Given the description of an element on the screen output the (x, y) to click on. 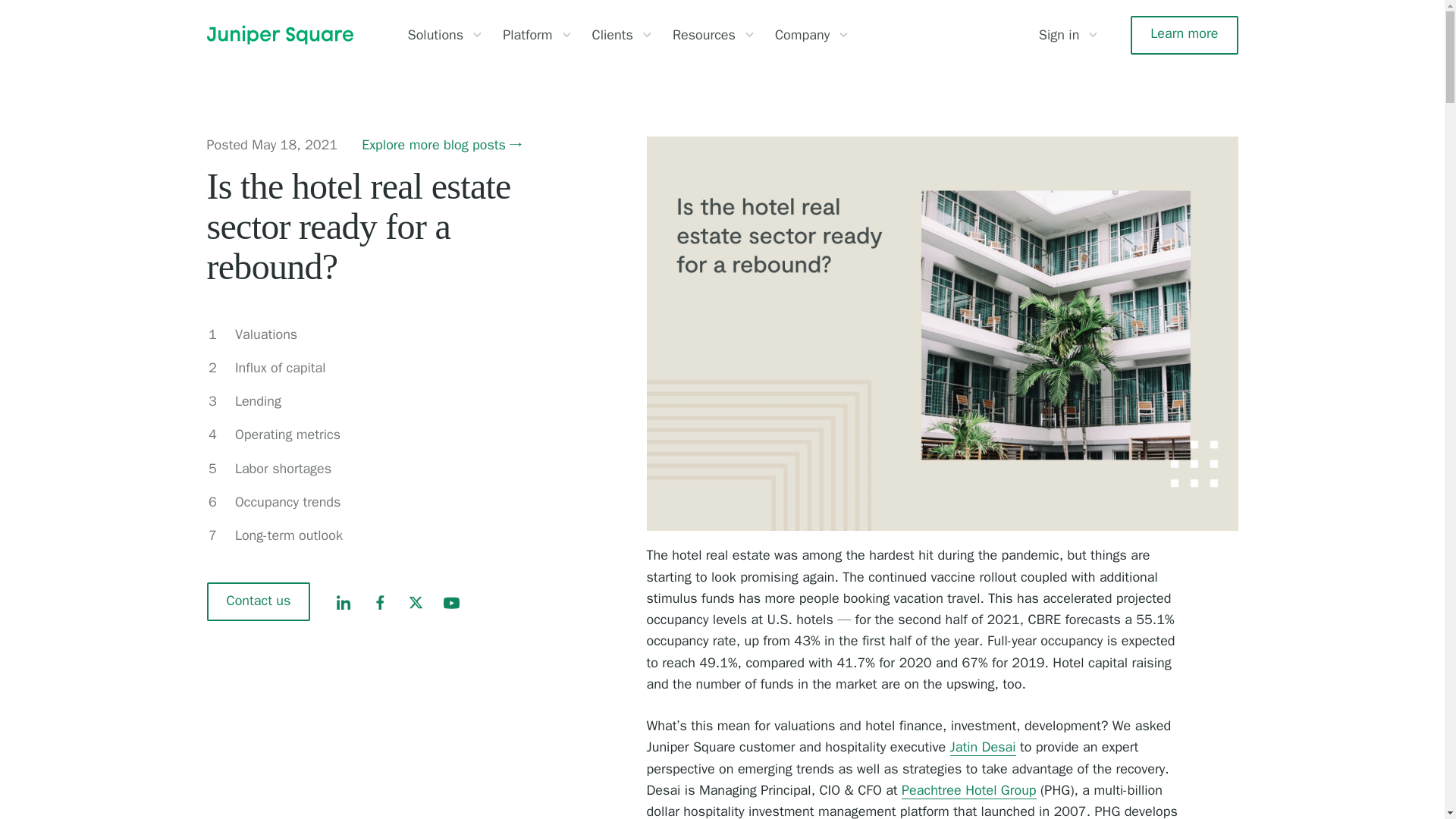
Show Platform submenu (566, 34)
Solutions (435, 34)
Show Solutions submenu (476, 34)
